Given the description of an element on the screen output the (x, y) to click on. 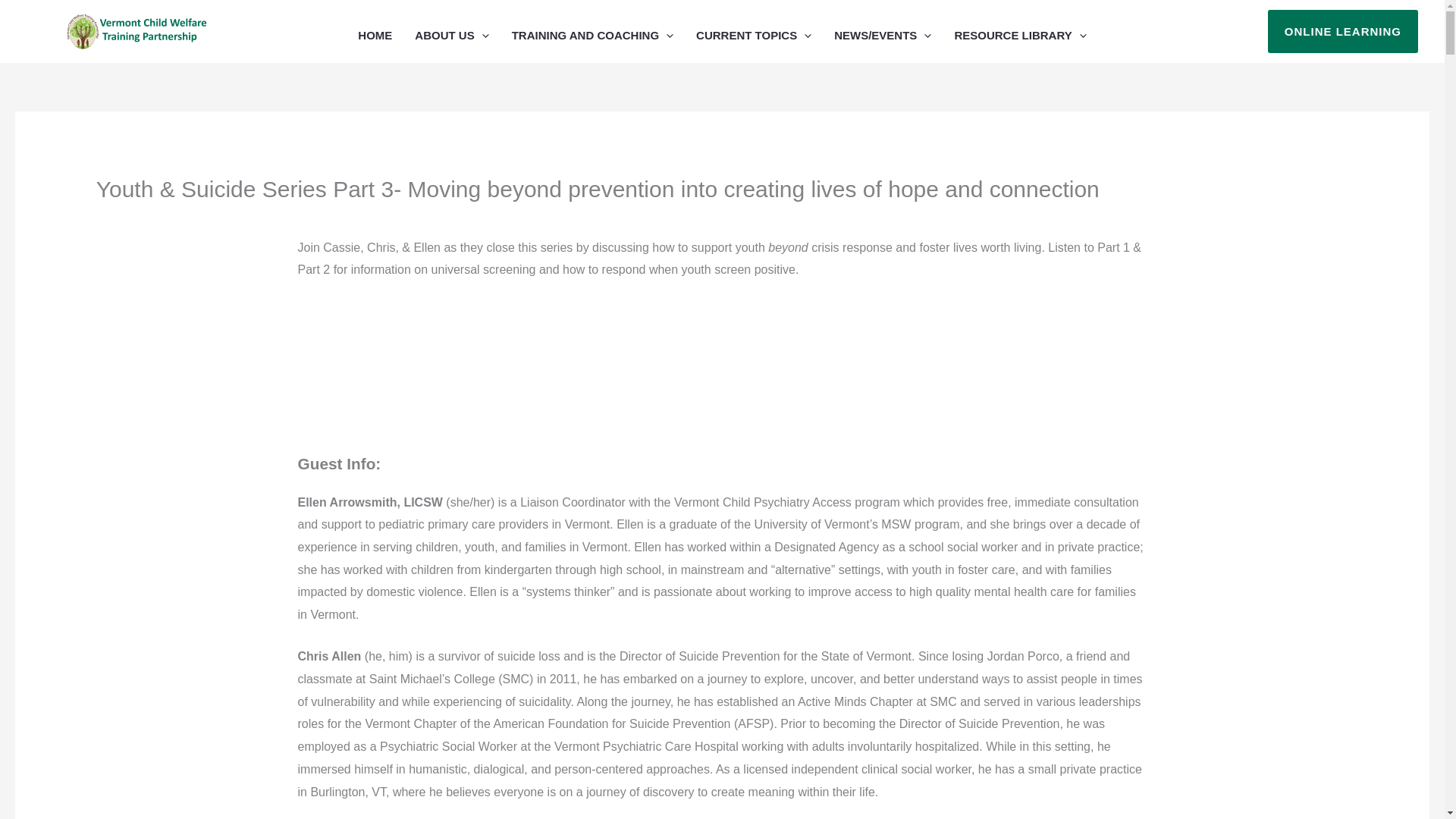
ONLINE LEARNING (1343, 31)
CURRENT TOPICS (753, 30)
HOME (374, 30)
ABOUT US (451, 30)
RESOURCE LIBRARY (1019, 30)
TRAINING AND COACHING (592, 30)
